Given the description of an element on the screen output the (x, y) to click on. 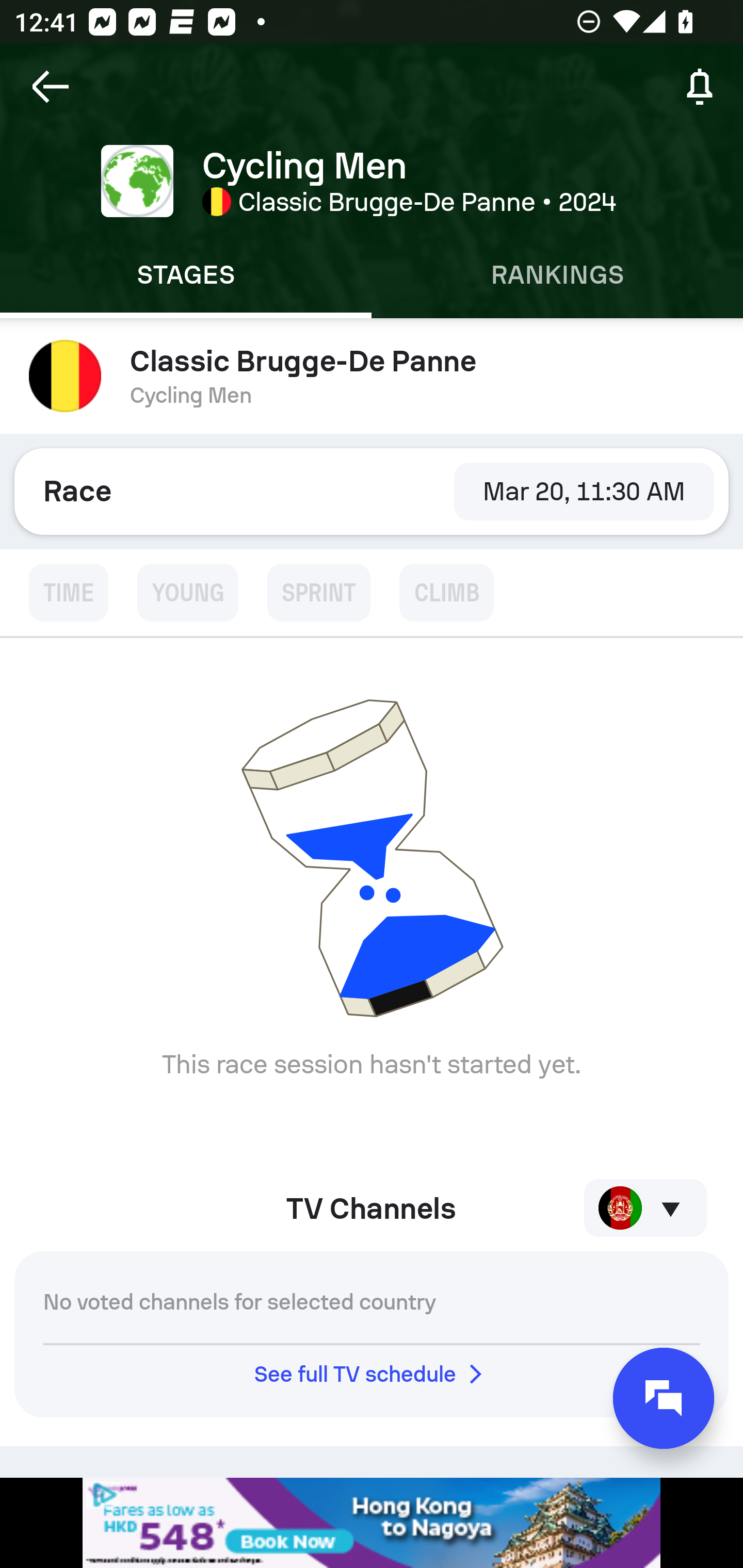
Navigate up (50, 86)
Rankings RANKINGS (557, 275)
Race Mar 20, 11:30 AM (371, 491)
Mar 20, 11:30 AM (583, 491)
See full TV schedule (371, 1374)
CHAT (663, 1398)
wi46309w_320x50 (371, 1522)
